Given the description of an element on the screen output the (x, y) to click on. 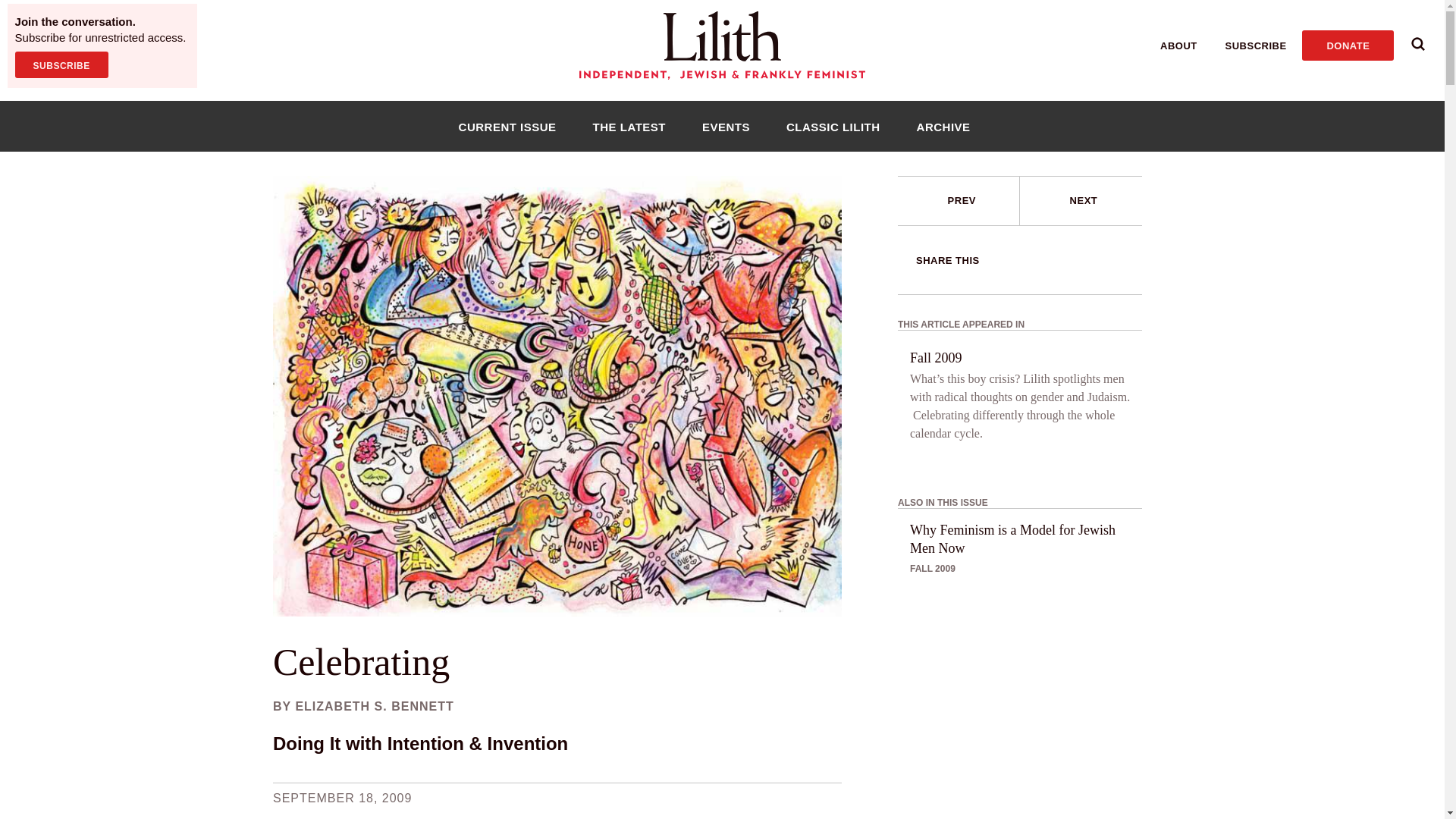
PREV (961, 200)
NEXT (1080, 200)
DONATE (1347, 45)
THE LATEST (628, 126)
ARCHIVE (943, 126)
ABOUT (1178, 45)
Why Feminism is a Model for Jewish Men Now (1025, 538)
CURRENT ISSUE (507, 126)
PREV (959, 200)
Fall 2009 (936, 357)
